Given the description of an element on the screen output the (x, y) to click on. 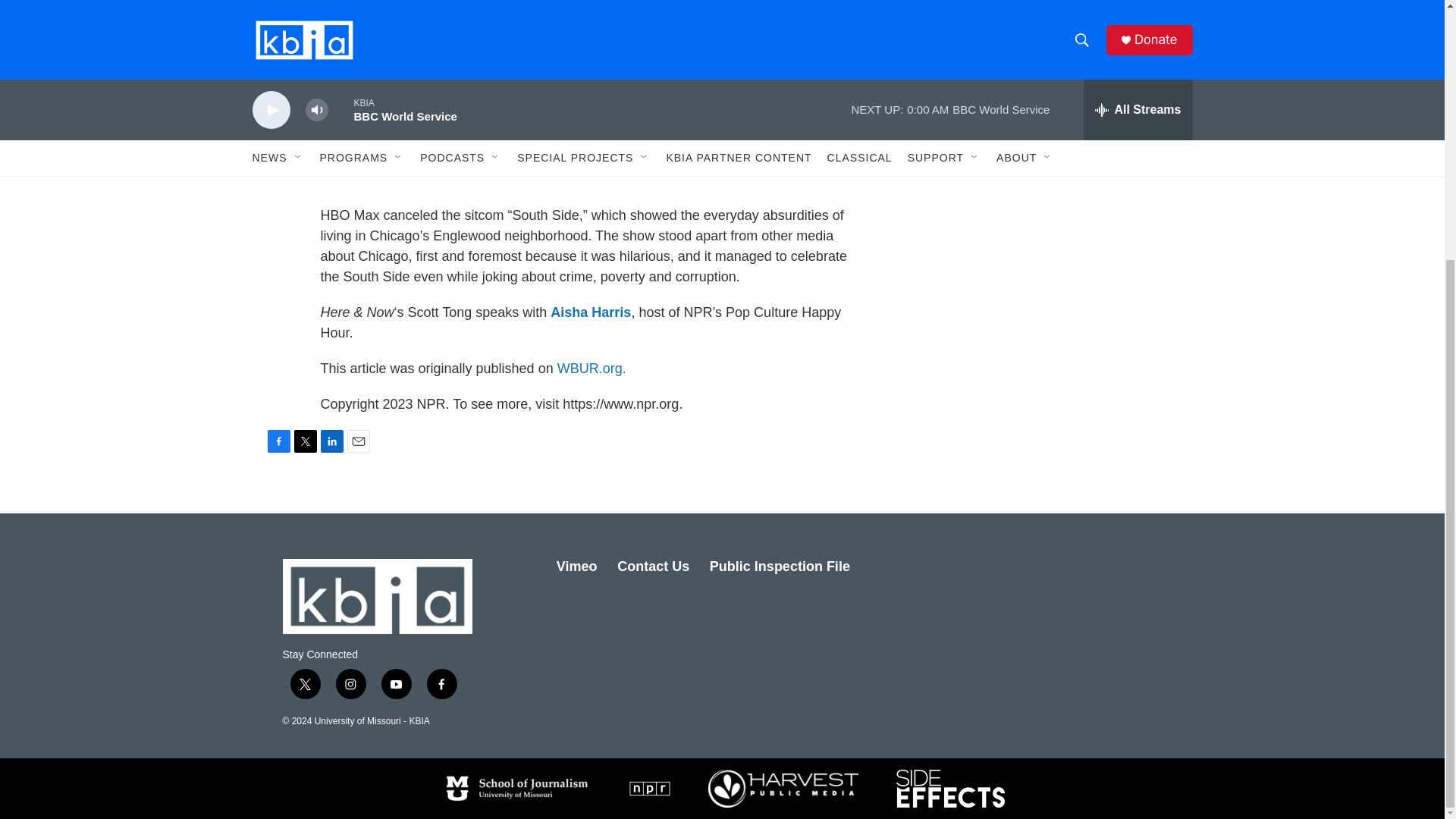
3rd party ad content (1062, 164)
3rd party ad content (1062, 384)
3rd party ad content (1062, 19)
